Given the description of an element on the screen output the (x, y) to click on. 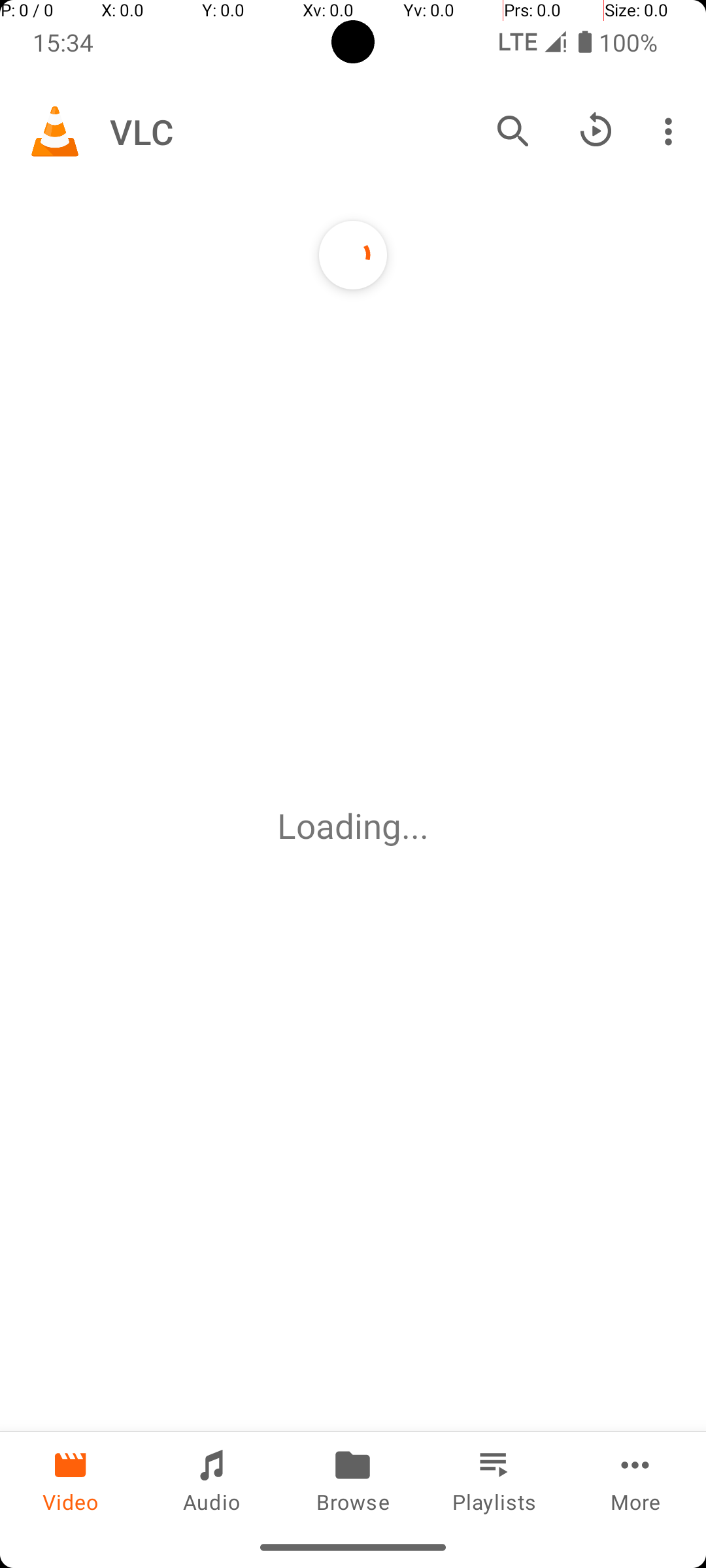
Resume playback Element type: android.widget.TextView (595, 131)
